Given the description of an element on the screen output the (x, y) to click on. 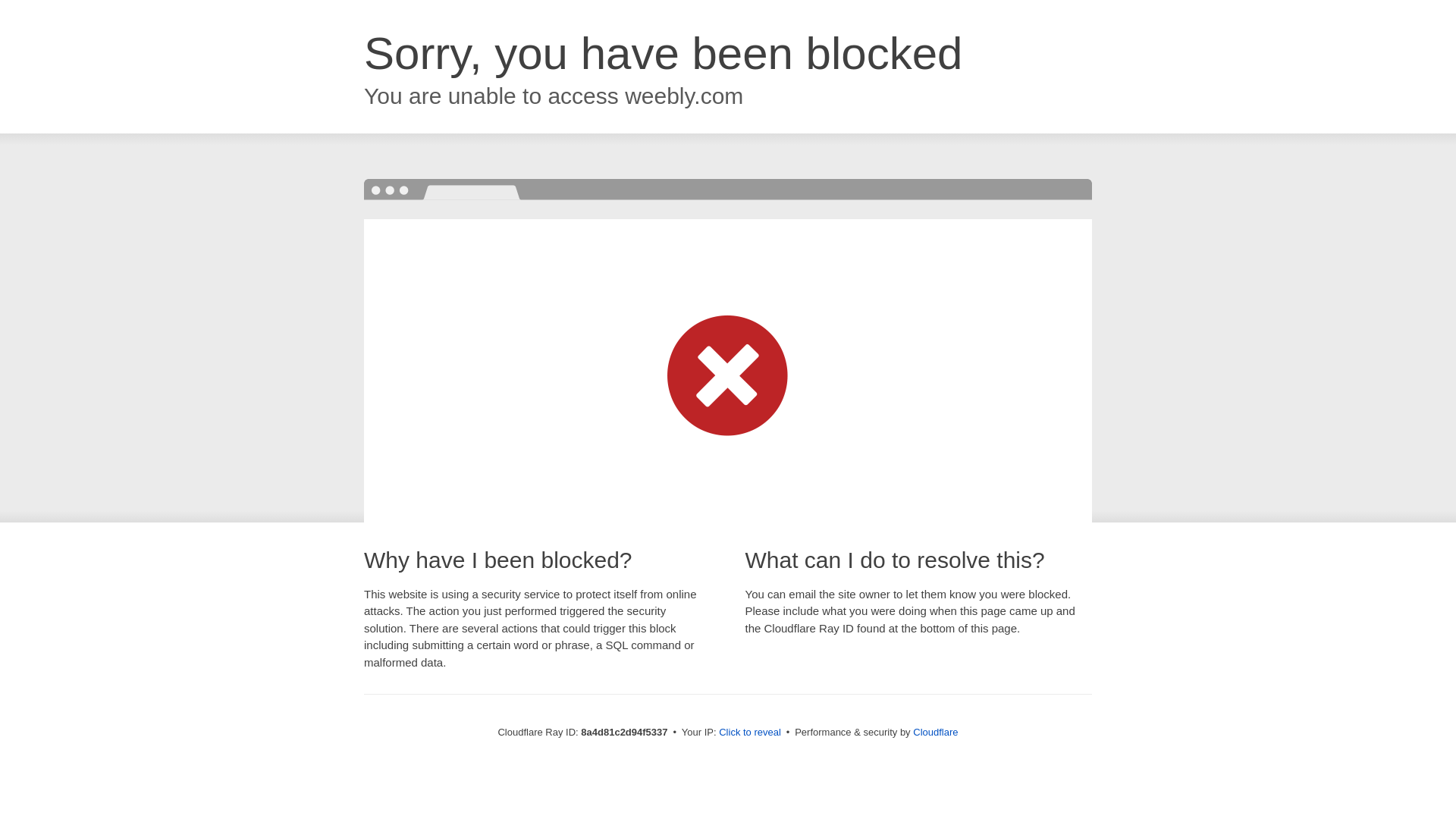
Click to reveal (749, 732)
Cloudflare (935, 731)
